Given the description of an element on the screen output the (x, y) to click on. 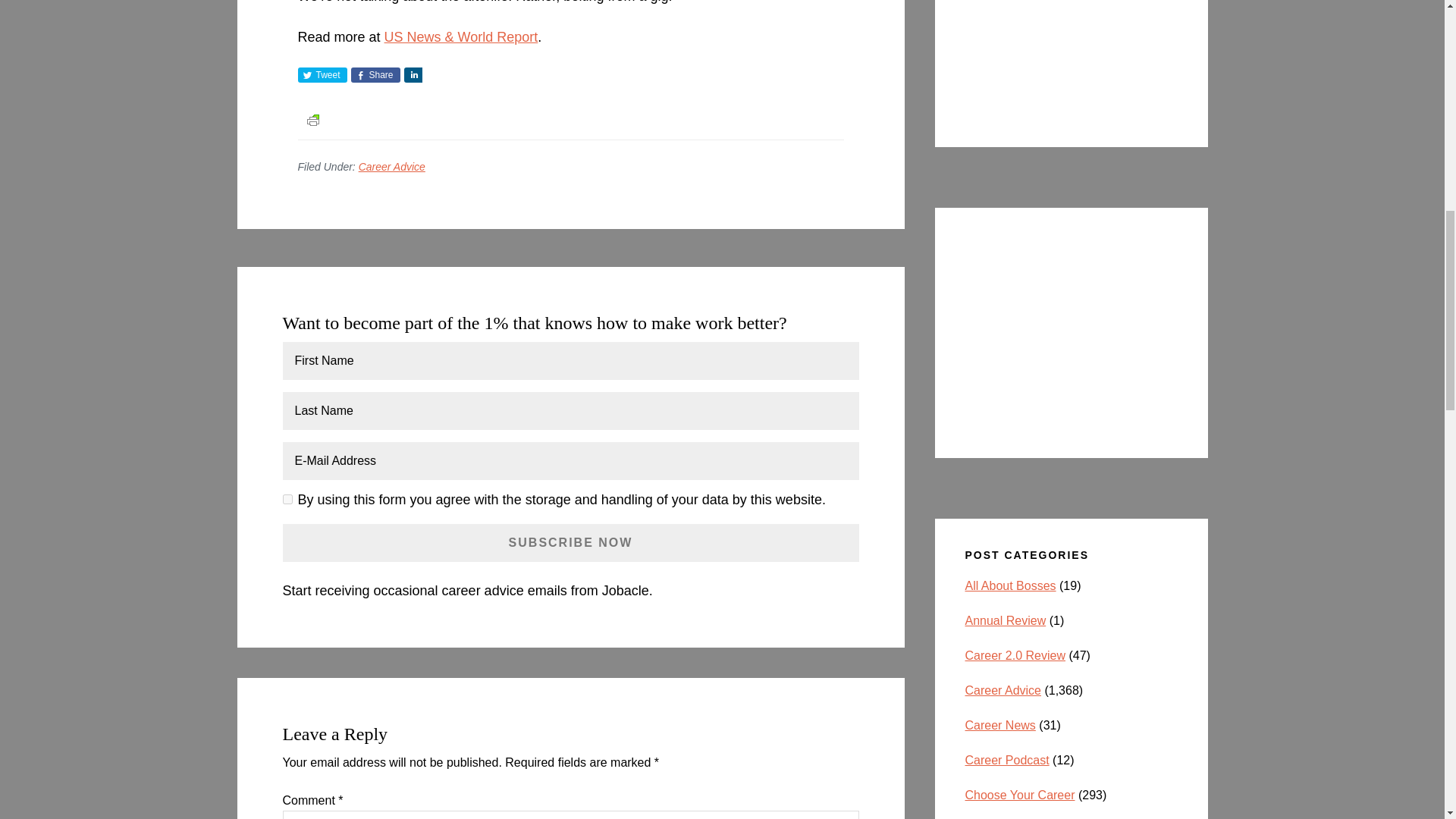
checked (287, 499)
Tweet (321, 74)
Share (374, 74)
SUBSCRIBE NOW (570, 542)
Career Advice (391, 166)
All About Bosses (1009, 585)
Annual Review (1004, 620)
SUBSCRIBE NOW (570, 542)
Share (412, 74)
